Given the description of an element on the screen output the (x, y) to click on. 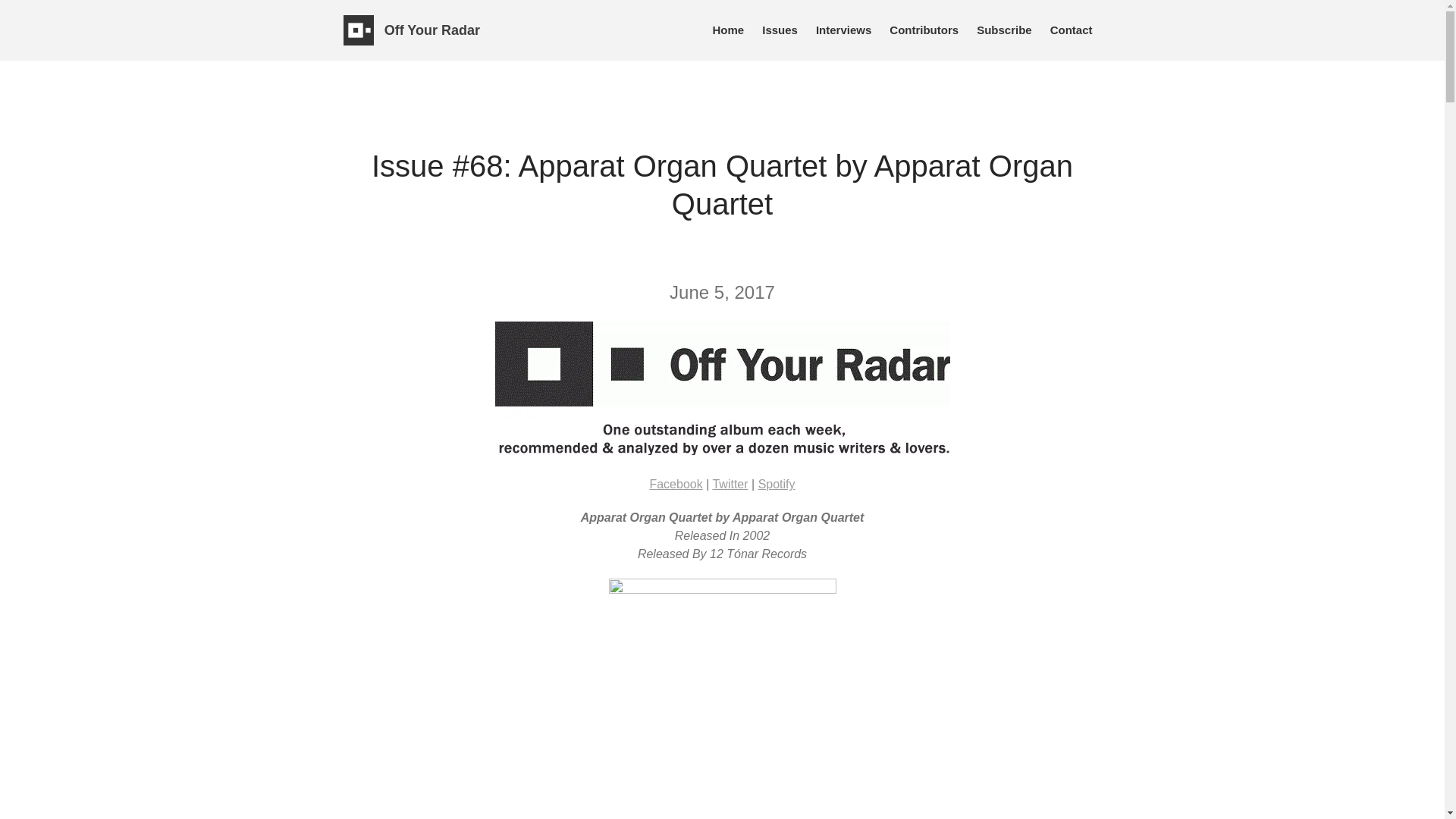
Spotify (776, 483)
Search (1356, 293)
Interviews (843, 29)
Issues (779, 29)
Facebook (675, 483)
Off Your Radar (432, 29)
Contact (1071, 29)
Contributors (924, 29)
Subscribe (1004, 29)
Twitter (729, 483)
Home (728, 29)
